Given the description of an element on the screen output the (x, y) to click on. 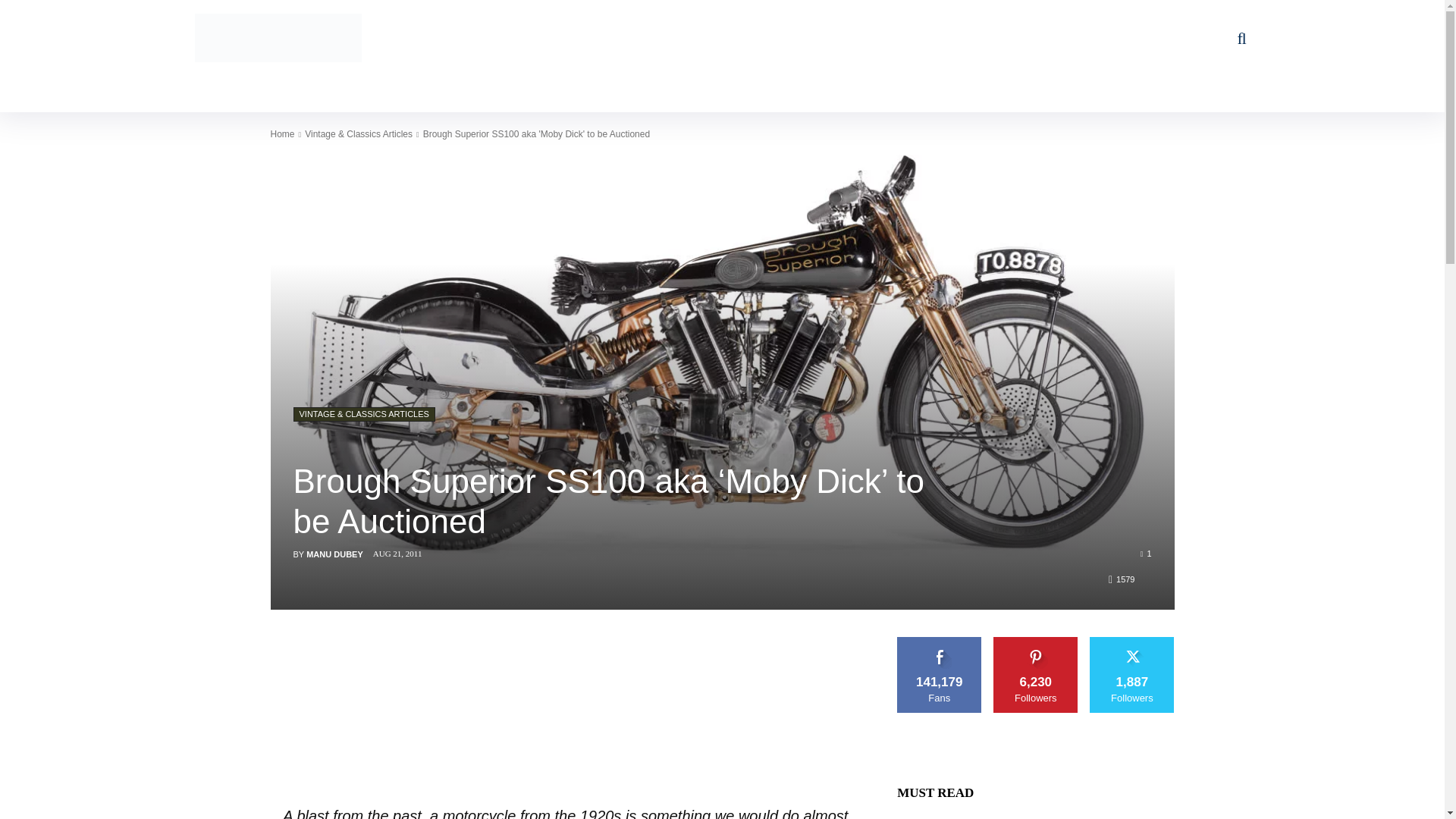
Moto Rivista (277, 37)
1 (1145, 552)
Home (281, 133)
MANU DUBEY (333, 553)
